Given the description of an element on the screen output the (x, y) to click on. 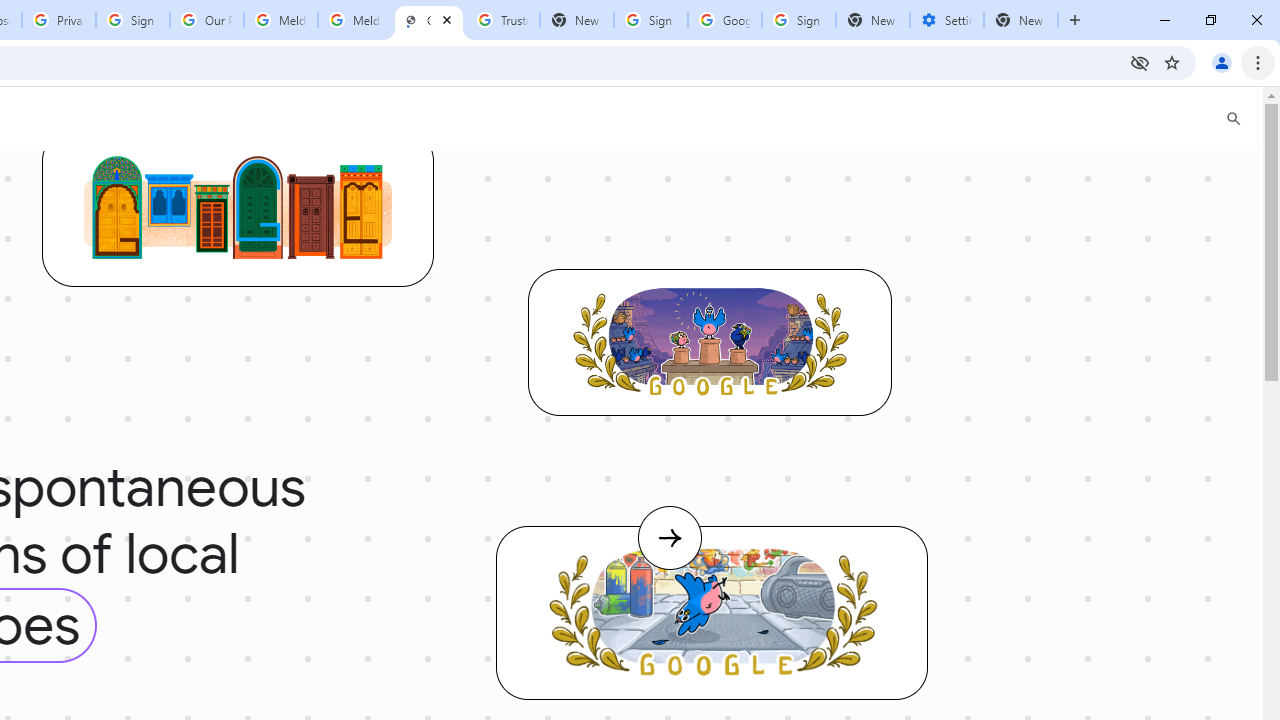
Trusted Information and Content - Google Safety Center (502, 20)
Next slide (669, 558)
New Tab (872, 20)
